Given the description of an element on the screen output the (x, y) to click on. 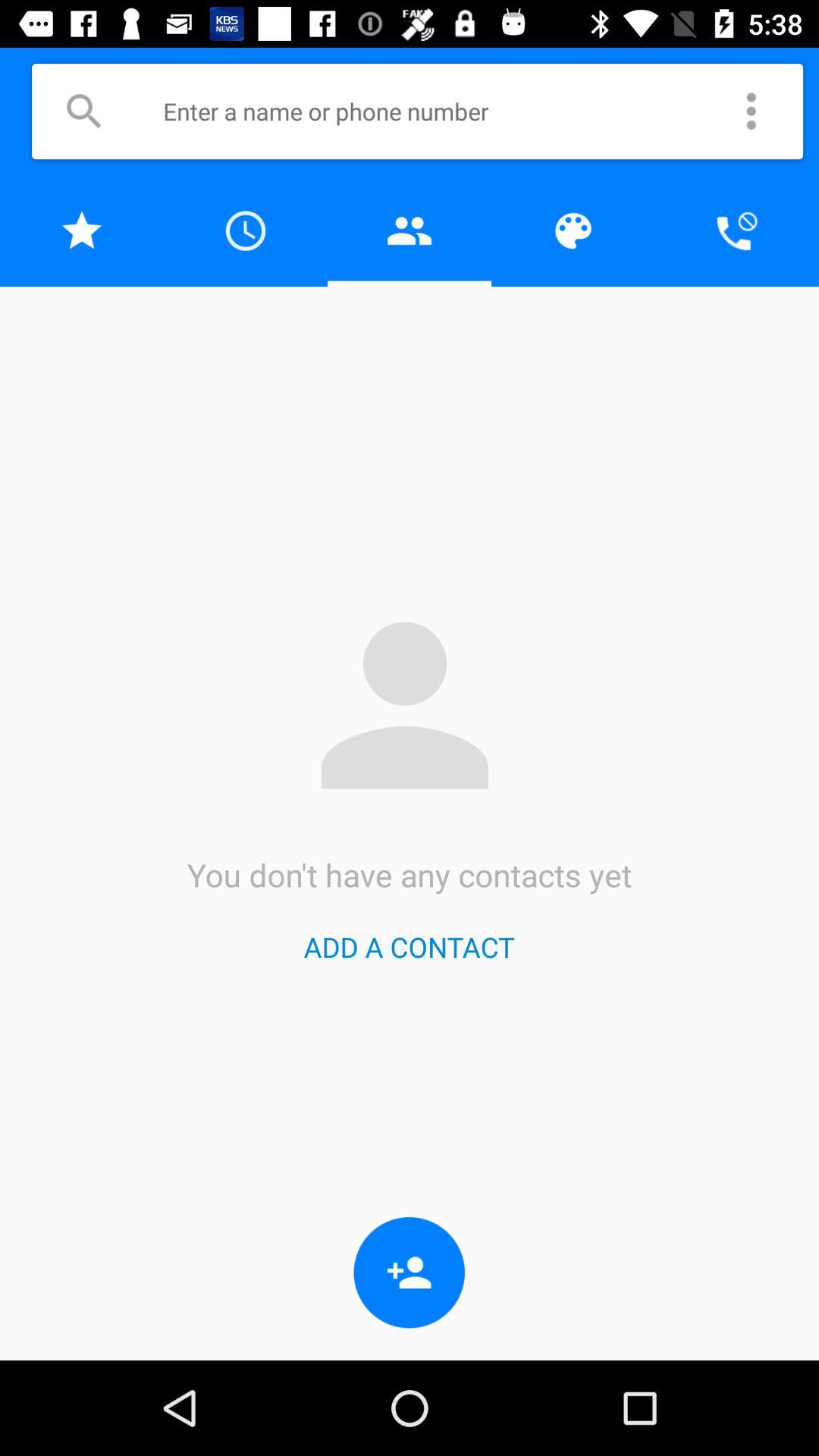
go to contacts (409, 230)
